Given the description of an element on the screen output the (x, y) to click on. 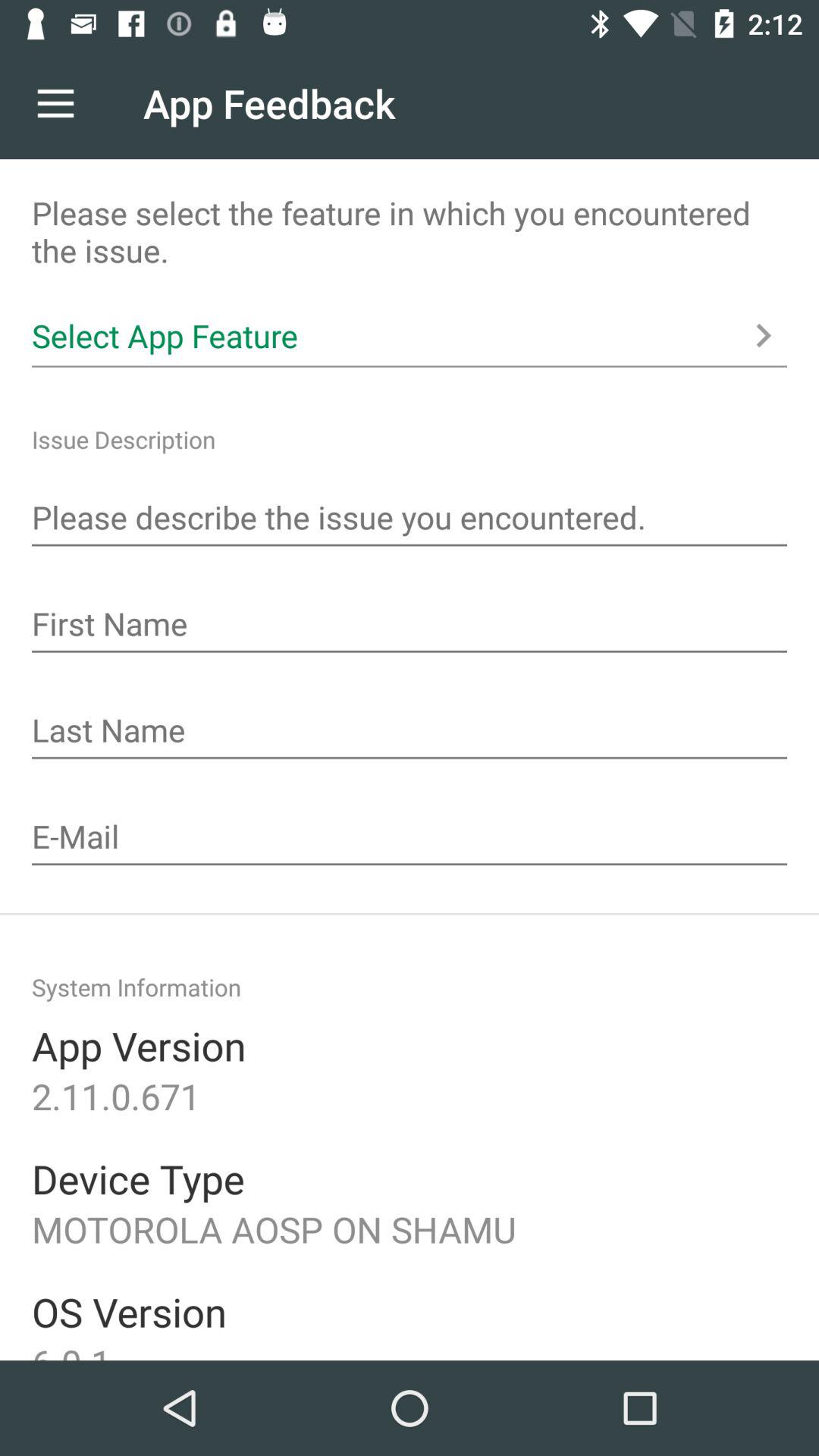
input first name line (409, 625)
